Given the description of an element on the screen output the (x, y) to click on. 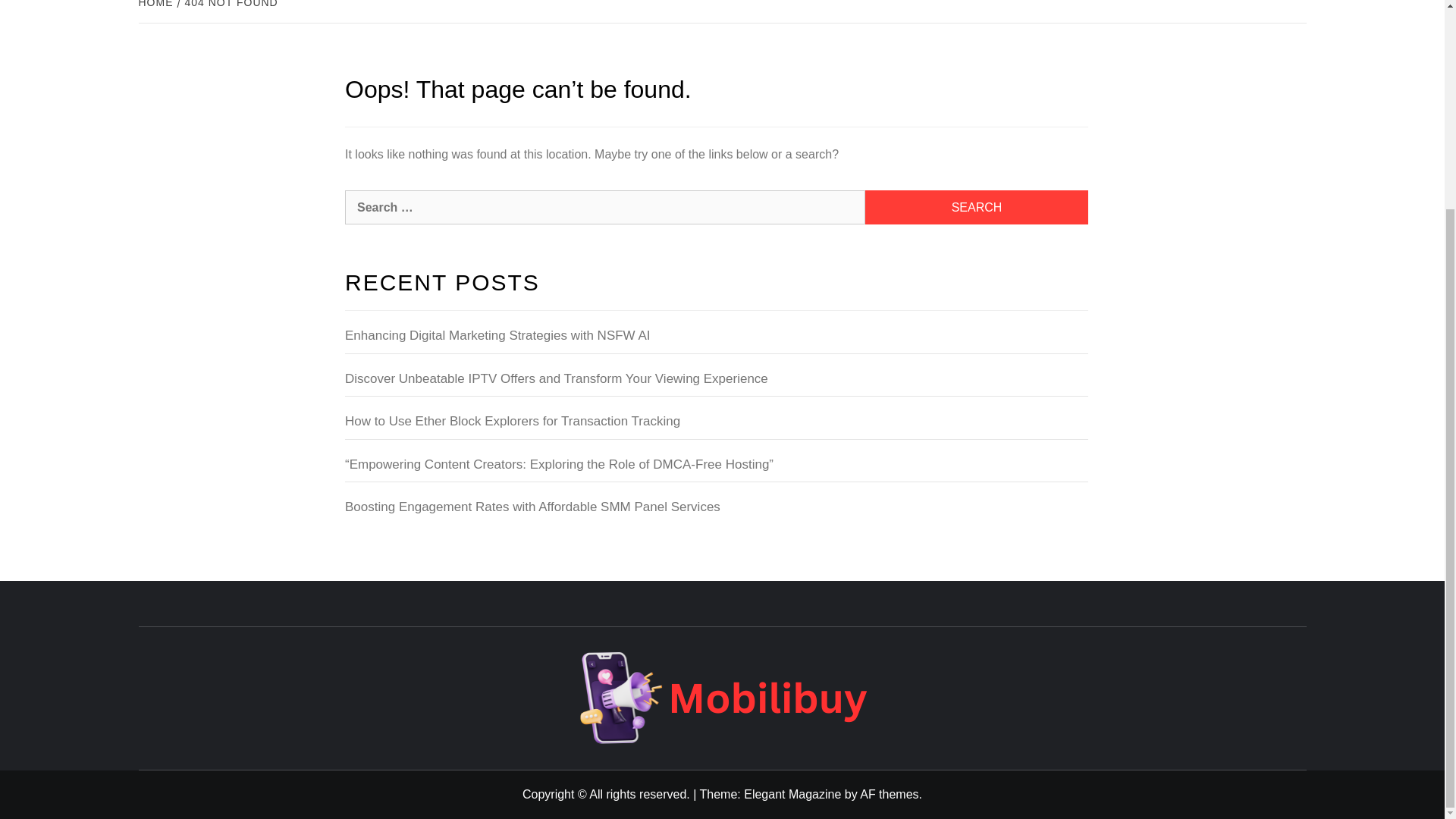
Search (975, 207)
Search (975, 207)
Enhancing Digital Marketing Strategies with NSFW AI (716, 339)
404 NOT FOUND (229, 4)
Search (975, 207)
HOME (157, 4)
AF themes (889, 793)
MOBILI BUY (976, 672)
How to Use Ether Block Explorers for Transaction Tracking (716, 425)
Elegant Magazine (792, 793)
Boosting Engagement Rates with Affordable SMM Panel Services (716, 510)
